Given the description of an element on the screen output the (x, y) to click on. 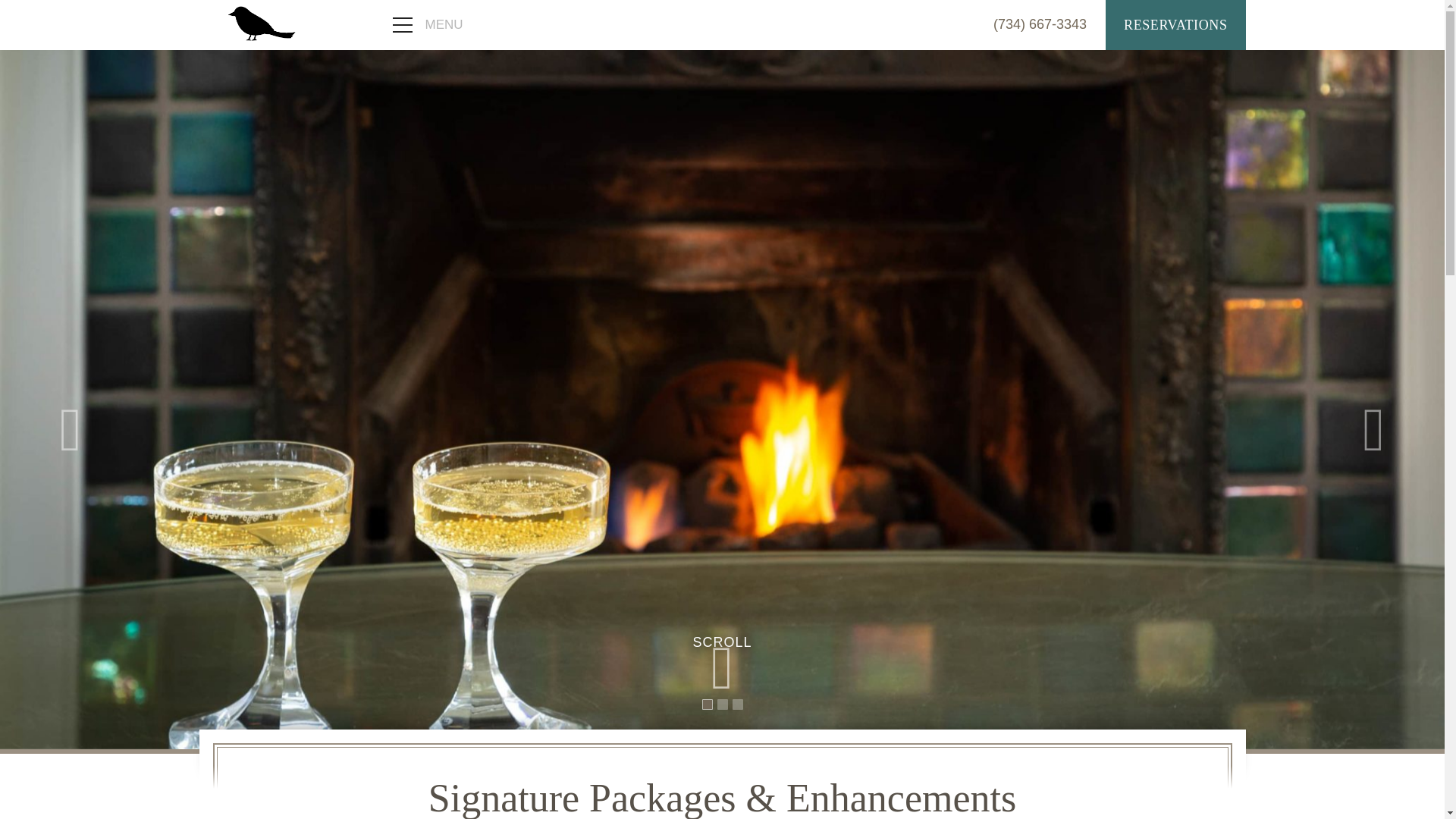
SCROLL (722, 642)
RESERVATIONS (1174, 24)
Robyn's Inn (260, 22)
SCROLL (721, 661)
MENU (424, 24)
Robyn's Inn (260, 22)
RESERVATIONS (1174, 24)
